Given the description of an element on the screen output the (x, y) to click on. 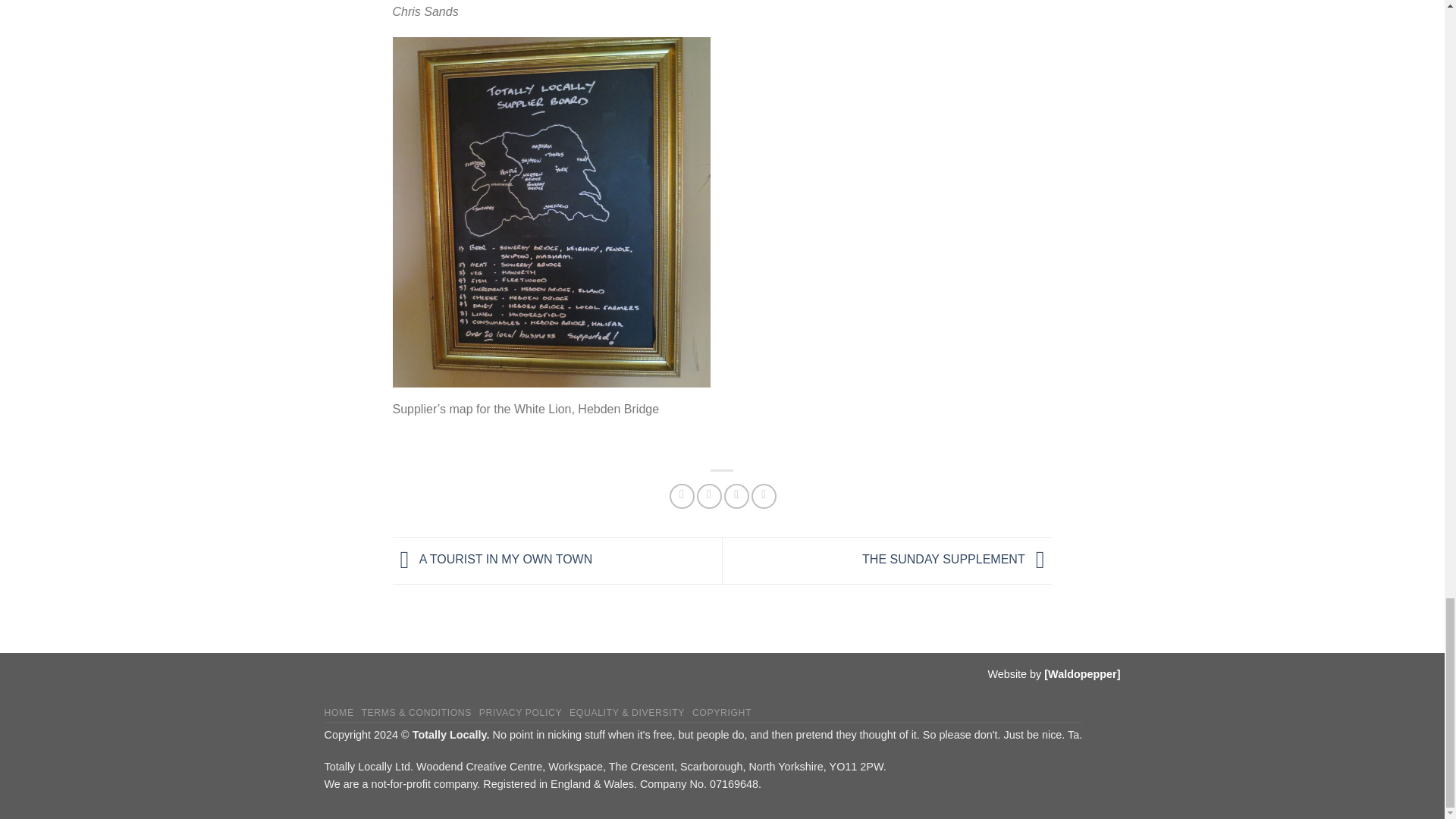
Email to a Friend (736, 496)
Share on Twitter (709, 496)
Share on Facebook (681, 496)
Share on LinkedIn (763, 496)
